Given the description of an element on the screen output the (x, y) to click on. 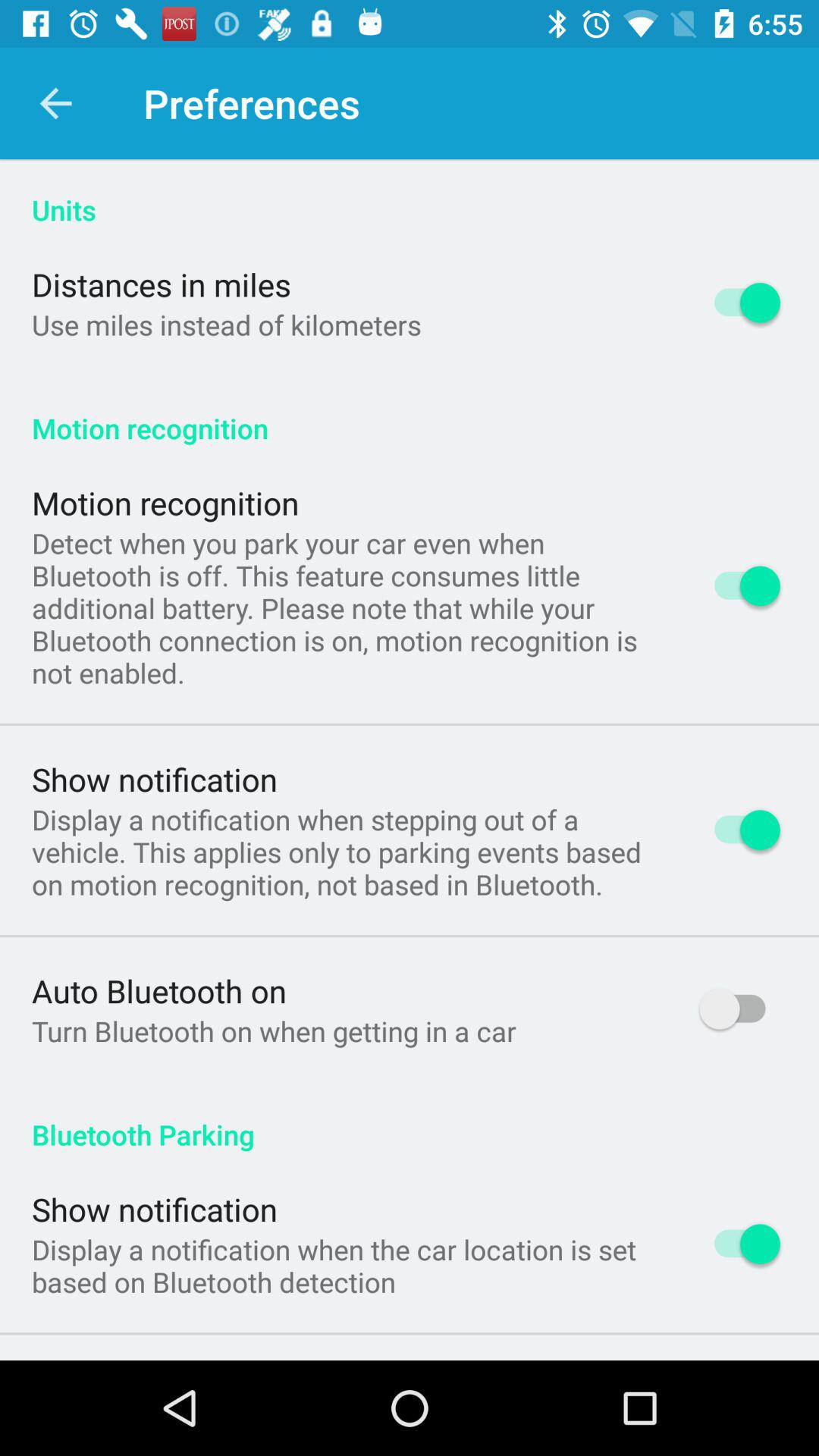
press the use miles instead app (226, 324)
